Given the description of an element on the screen output the (x, y) to click on. 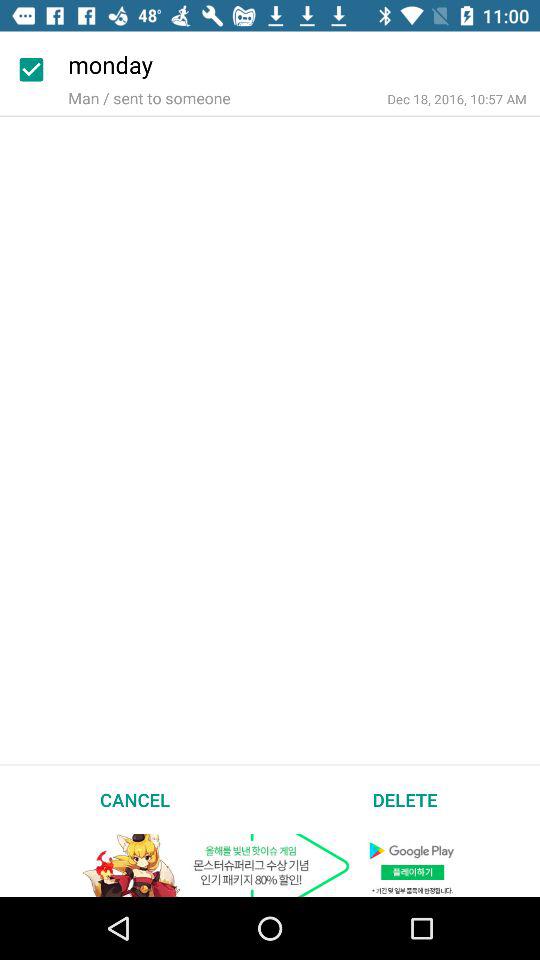
open icon to the left of the delete (135, 799)
